Given the description of an element on the screen output the (x, y) to click on. 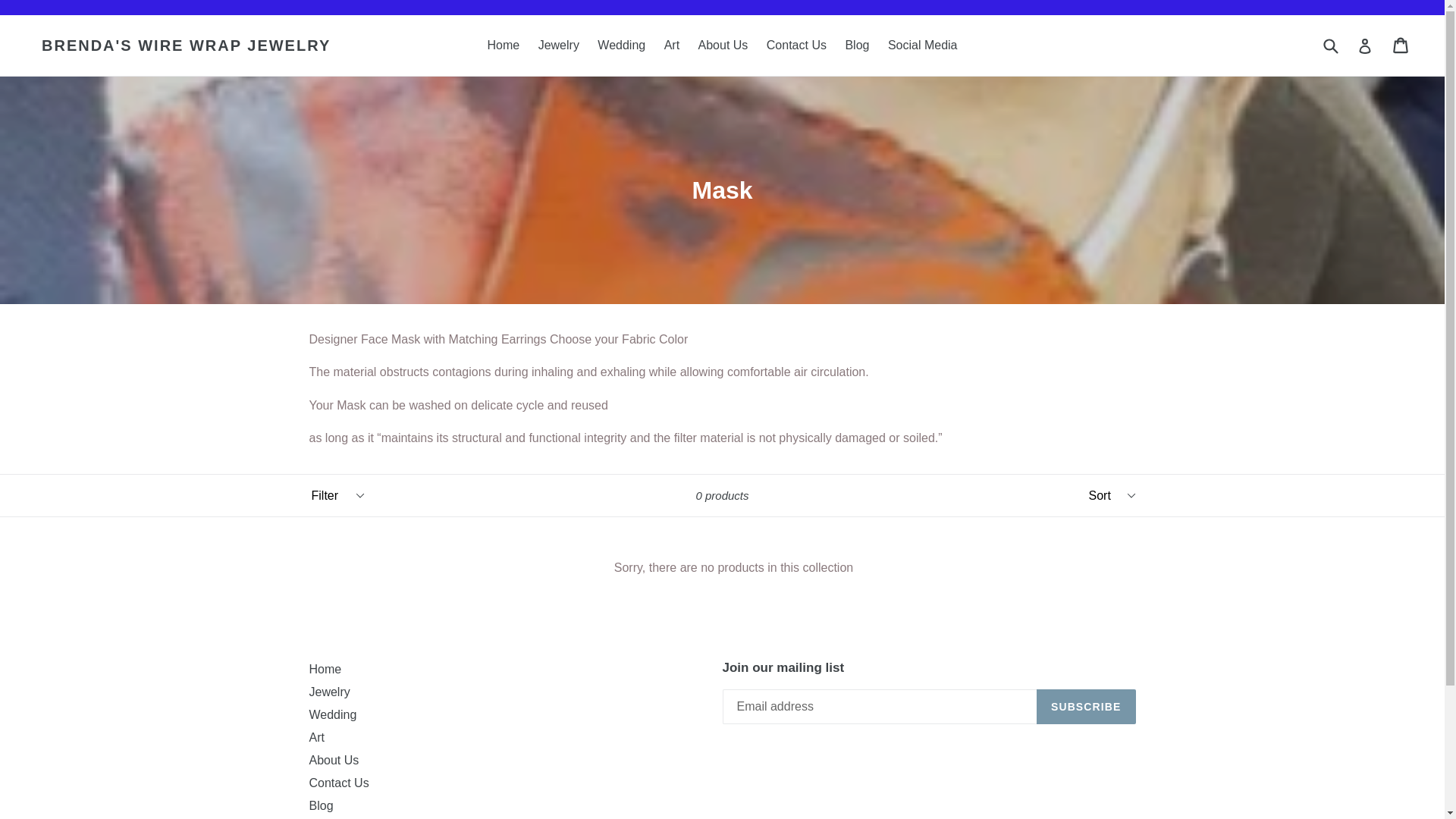
Blog (320, 805)
Blog (856, 45)
Wedding (620, 45)
Art (671, 45)
Home (503, 45)
Art (316, 737)
BRENDA'S WIRE WRAP JEWELRY (186, 45)
Home (325, 668)
Submit (1329, 44)
About Us (333, 759)
Log in (1364, 45)
Contact Us (338, 782)
SUBSCRIBE (1085, 706)
Wedding (332, 714)
Social Media (922, 45)
